Given the description of an element on the screen output the (x, y) to click on. 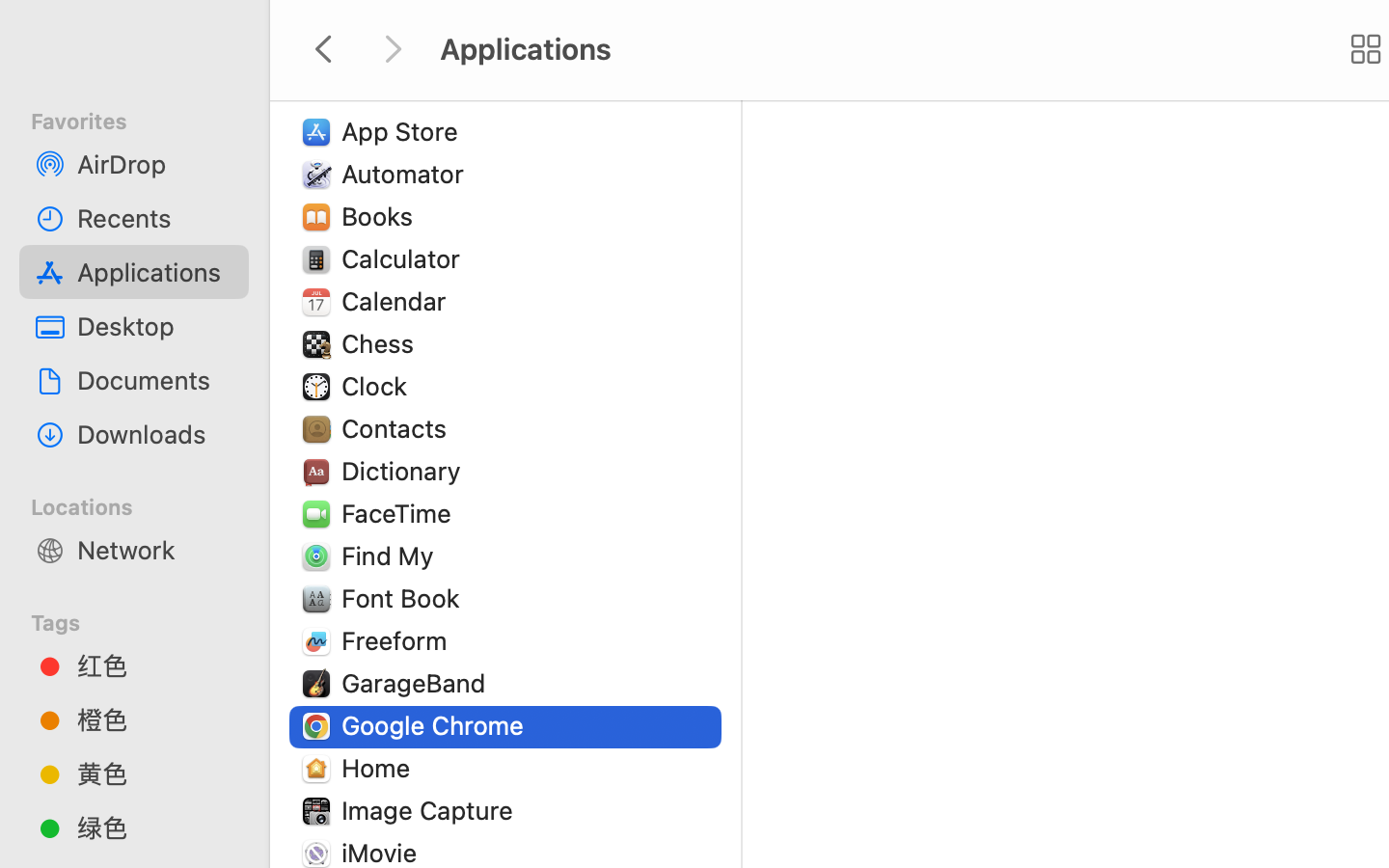
Desktop Element type: AXStaticText (155, 325)
Applications Element type: AXStaticText (155, 271)
App Store Element type: AXTextField (403, 130)
iMovie Element type: AXTextField (383, 852)
Calculator Element type: AXTextField (404, 258)
